Given the description of an element on the screen output the (x, y) to click on. 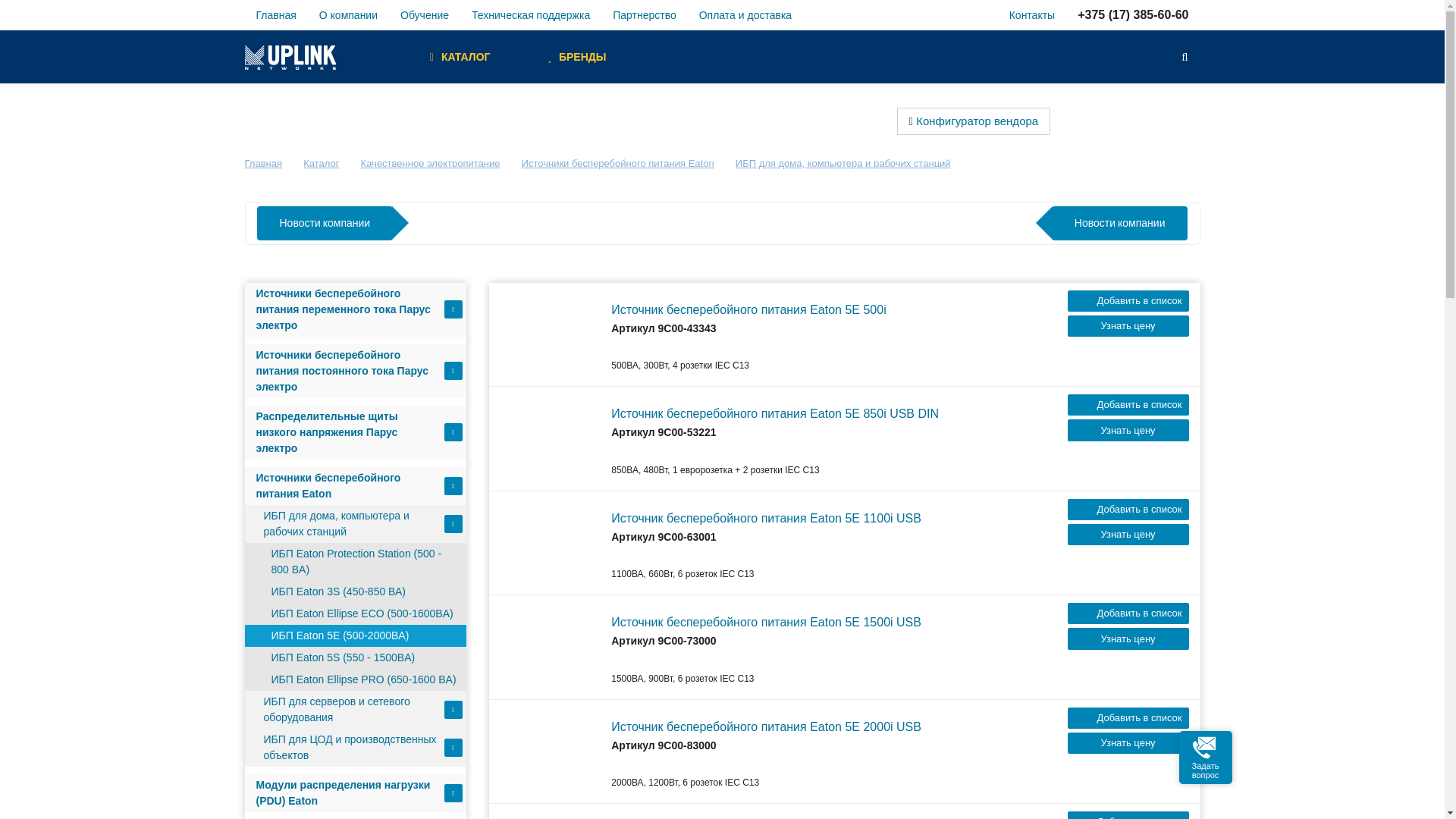
+375 (17) 385-60-60 Element type: text (1132, 14)
